Given the description of an element on the screen output the (x, y) to click on. 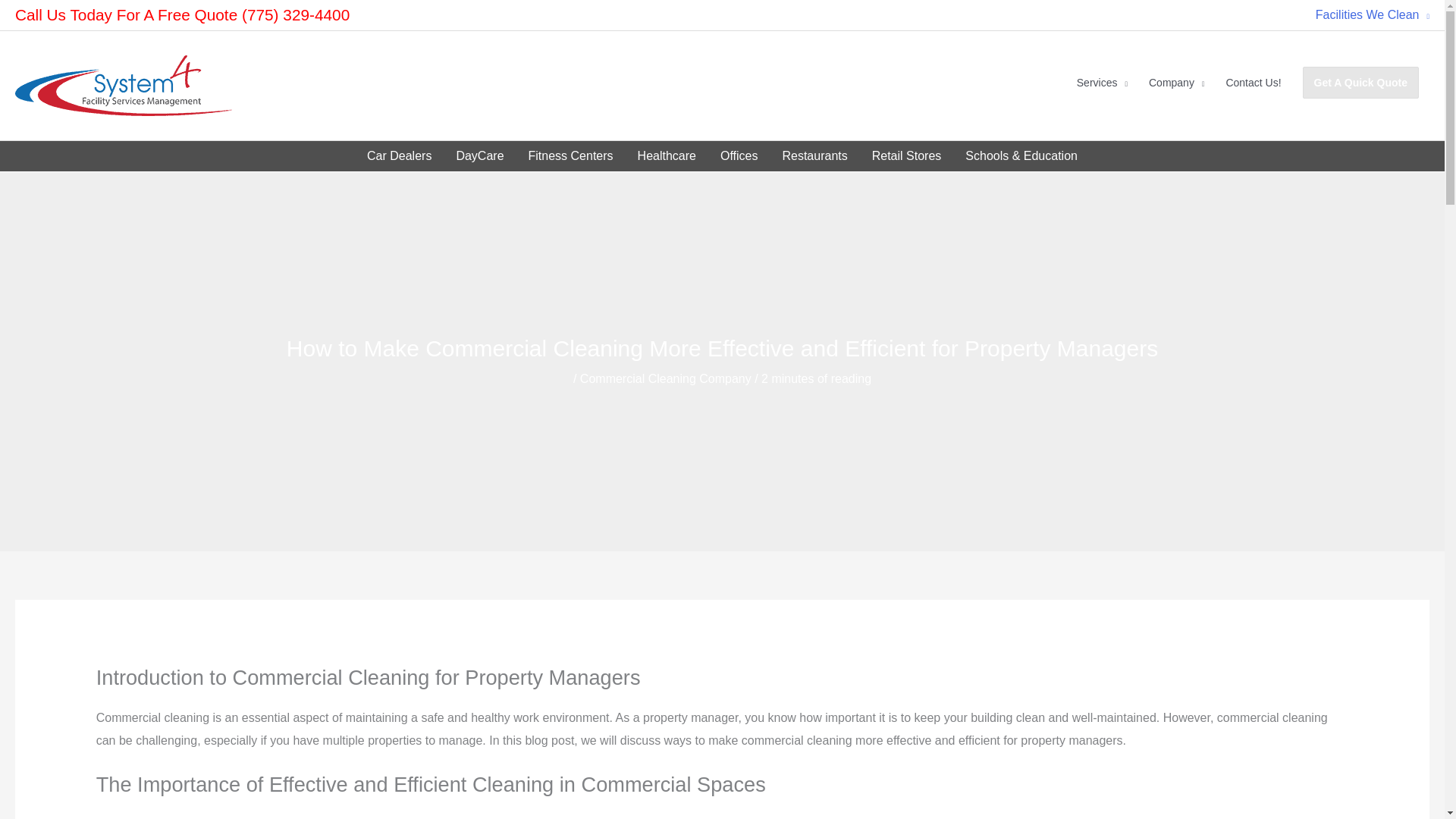
Facilities We Clean (1366, 15)
Company (1176, 82)
Contact Us! (1252, 82)
Services (1101, 82)
